Given the description of an element on the screen output the (x, y) to click on. 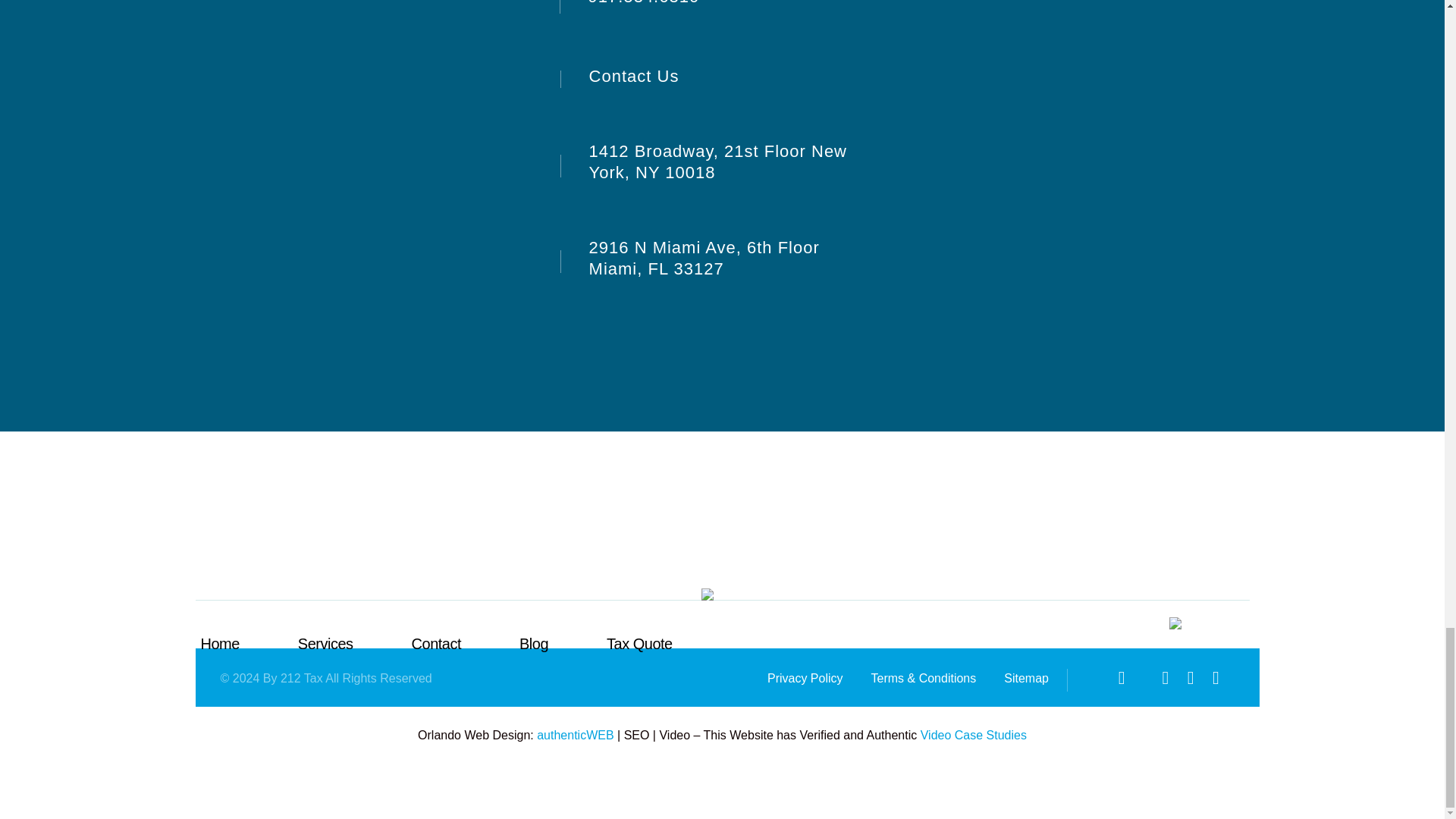
Contact Us (622, 75)
